Given the description of an element on the screen output the (x, y) to click on. 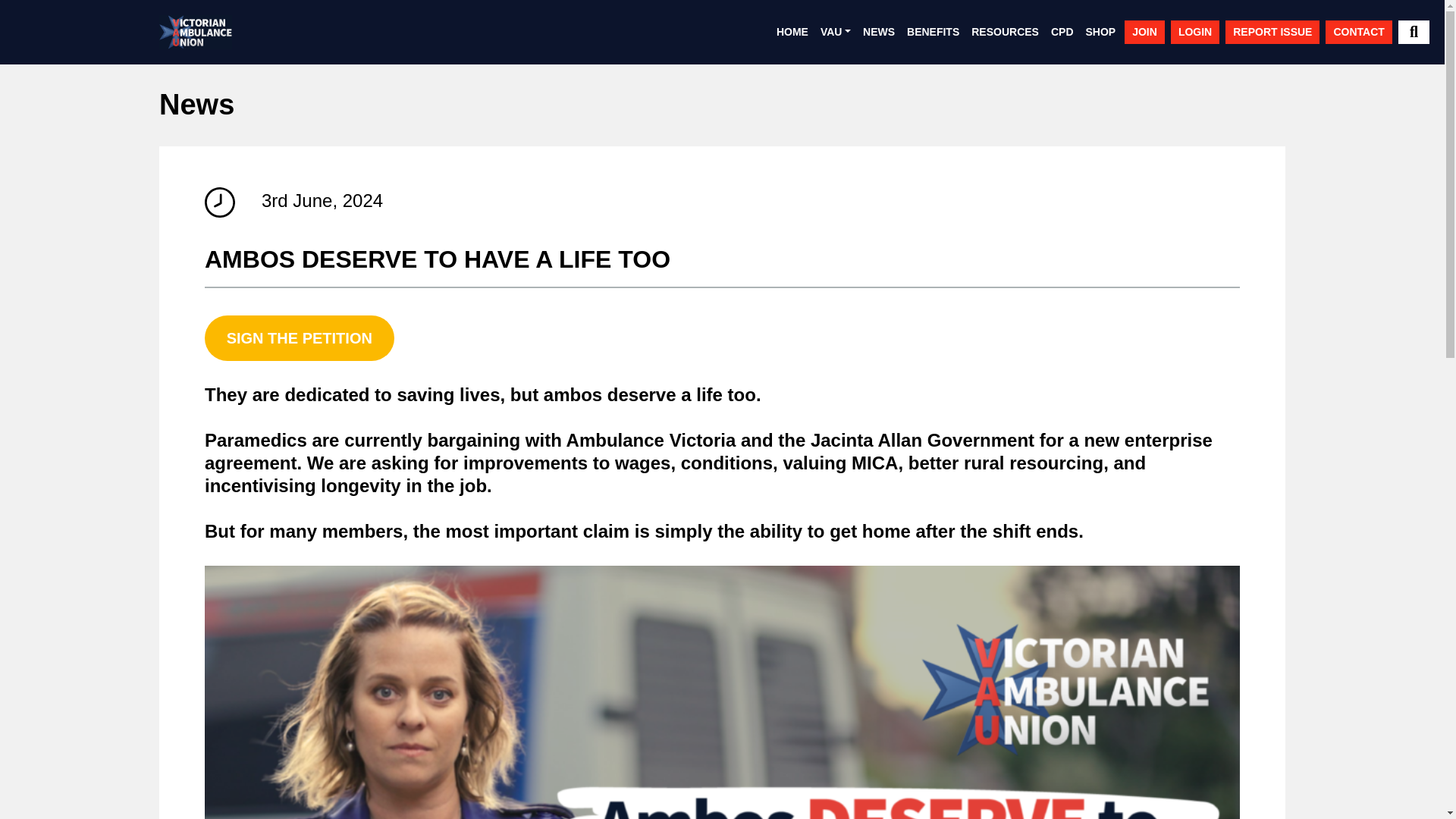
LOGIN (1195, 32)
CONTACT (1357, 32)
REPORT ISSUE (1272, 32)
BENEFITS (933, 32)
RESOURCES (1005, 32)
JOIN (1144, 32)
SIGN THE PETITION (299, 338)
